Given the description of an element on the screen output the (x, y) to click on. 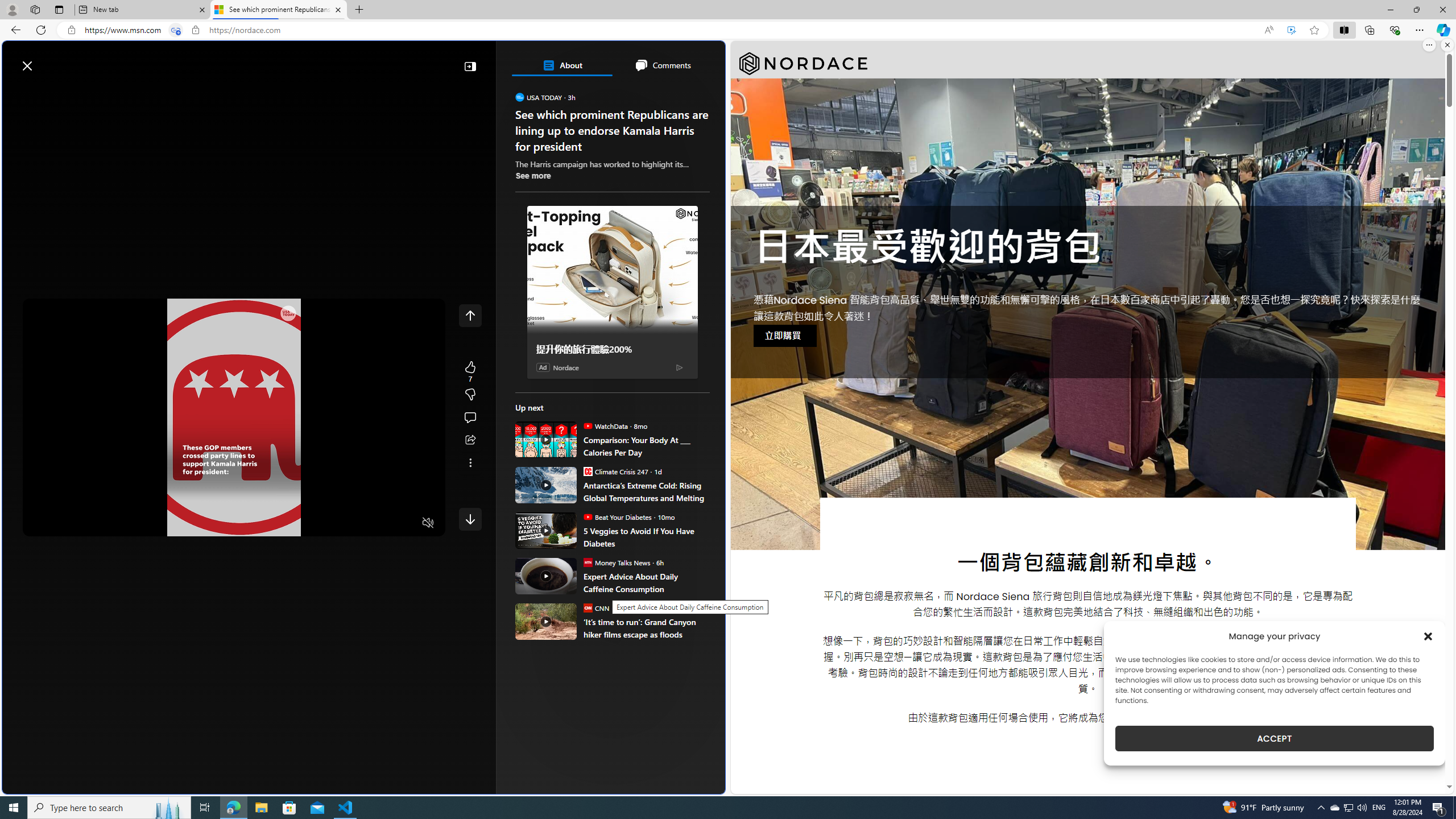
Money Talks News Money Talks News (616, 561)
Personalize (679, 92)
Seek Back (62, 523)
Collapse (469, 65)
Class: control icon-only (469, 315)
Fullscreen (405, 523)
Quality Settings (360, 523)
